Given the description of an element on the screen output the (x, y) to click on. 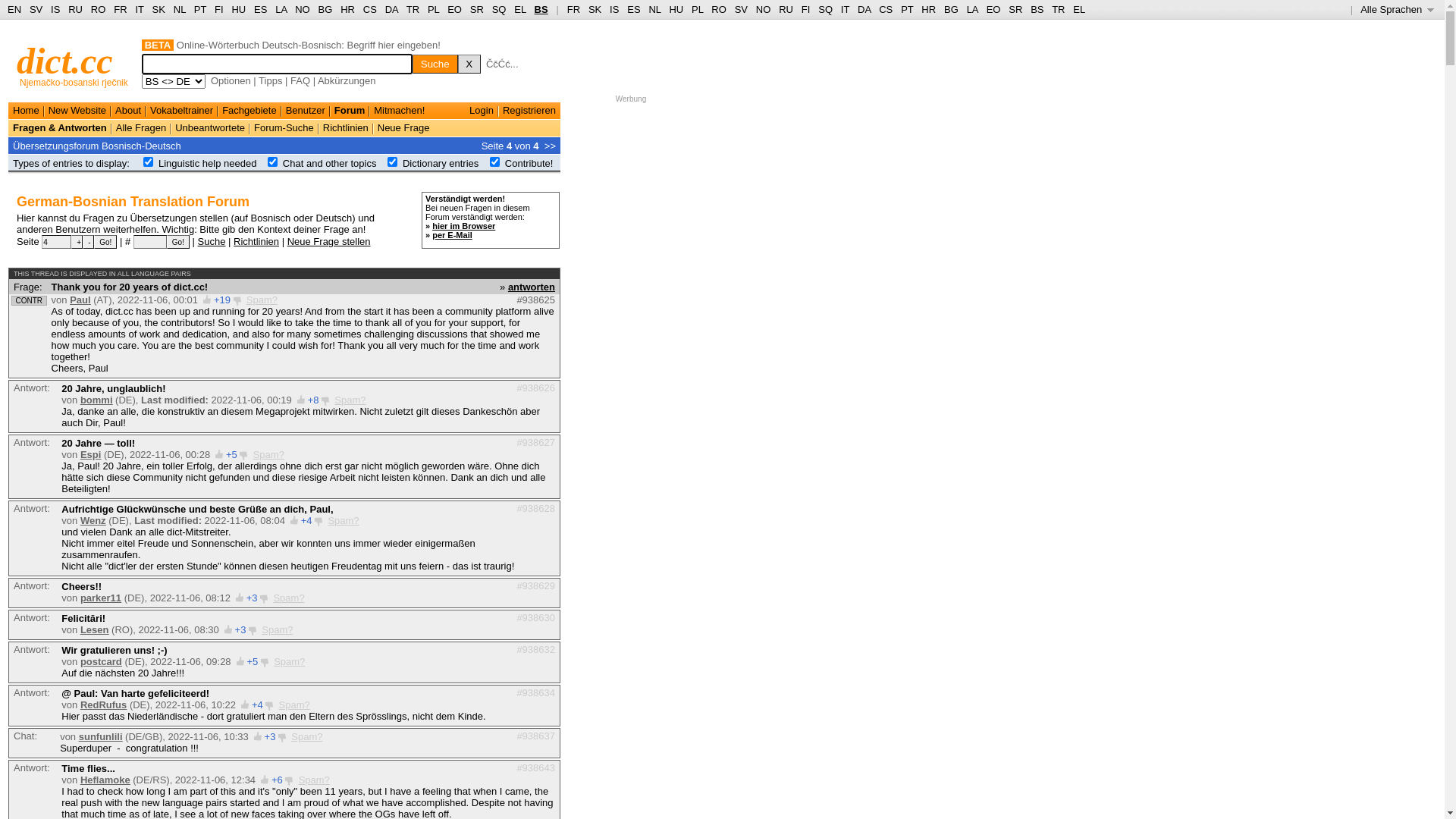
on Element type: text (272, 161)
Alle Fragen Element type: text (141, 127)
Suche Element type: text (211, 240)
PL Element type: text (696, 9)
Home Element type: text (25, 110)
postcard Element type: text (101, 661)
DA Element type: text (863, 9)
+8 Element type: text (313, 399)
Suche Element type: text (435, 63)
Chat and other topics Element type: text (329, 163)
Richtlinien Element type: text (256, 240)
Spam? Element type: text (288, 661)
RU Element type: text (785, 9)
IT Element type: text (138, 9)
CS Element type: text (369, 9)
IS Element type: text (54, 9)
+3 Element type: text (251, 597)
HU Element type: text (675, 9)
NL Element type: text (179, 9)
FI Element type: text (805, 9)
Spam? Element type: text (342, 520)
antworten Element type: text (531, 285)
Go! Element type: text (105, 241)
SQ Element type: text (499, 9)
RO Element type: text (98, 9)
dict.cc Element type: text (64, 60)
DA Element type: text (391, 9)
Spam? Element type: text (261, 299)
Neue Frage stellen Element type: text (328, 240)
EL Element type: text (519, 9)
X Element type: text (469, 63)
on Element type: text (392, 161)
PL Element type: text (433, 9)
SK Element type: text (594, 9)
Contribute! Element type: text (529, 163)
IS Element type: text (613, 9)
BS Element type: text (541, 9)
NO Element type: text (302, 9)
SK Element type: text (158, 9)
EL Element type: text (1079, 9)
RU Element type: text (75, 9)
RO Element type: text (718, 9)
Fragen & Antworten Element type: text (59, 127)
parker11 Element type: text (100, 597)
SV Element type: text (740, 9)
HR Element type: text (347, 9)
FAQ Element type: text (300, 80)
on Element type: text (148, 161)
Go! Element type: text (177, 241)
Richtlinien Element type: text (345, 127)
+5 Element type: text (231, 454)
FR Element type: text (573, 9)
Registrieren Element type: text (528, 110)
Neue Frage Element type: text (403, 127)
IT Element type: text (844, 9)
Lesen Element type: text (94, 629)
+4 Element type: text (306, 520)
sunfunlili Element type: text (100, 736)
Forum-Suche Element type: text (283, 127)
CS Element type: text (885, 9)
Spam? Element type: text (288, 597)
BG Element type: text (325, 9)
Alle Sprachen  Element type: text (1397, 9)
Unbeantwortete Element type: text (209, 127)
Benutzer Element type: text (305, 110)
NO Element type: text (763, 9)
#938637 Element type: text (535, 734)
HU Element type: text (238, 9)
SR Element type: text (476, 9)
RedRufus Element type: text (103, 704)
Vokabeltrainer Element type: text (181, 110)
PT Element type: text (906, 9)
EN Element type: text (14, 9)
SR Element type: text (1015, 9)
CONTR Element type: text (28, 300)
Optionen Element type: text (230, 80)
bommi Element type: text (96, 399)
Linguistic help needed Element type: text (207, 163)
Login Element type: text (481, 110)
#938627 Element type: text (535, 442)
About Element type: text (128, 110)
#938625 Element type: text (535, 299)
#938626 Element type: text (535, 387)
FR Element type: text (119, 9)
NL Element type: text (654, 9)
+19 Element type: text (221, 299)
+3 Element type: text (240, 629)
Spam? Element type: text (306, 736)
HR Element type: text (928, 9)
LA Element type: text (972, 9)
#938634 Element type: text (535, 692)
Spam? Element type: text (276, 629)
LA Element type: text (280, 9)
+3 Element type: text (270, 736)
Forum Element type: text (349, 110)
EO Element type: text (454, 9)
Wenz Element type: text (93, 520)
BG Element type: text (951, 9)
SV Element type: text (35, 9)
BS Element type: text (1036, 9)
ES Element type: text (260, 9)
Mitmachen! Element type: text (398, 110)
SQ Element type: text (825, 9)
on Element type: text (494, 161)
Spam? Element type: text (349, 399)
+4 Element type: text (257, 704)
#938643 Element type: text (535, 766)
Spam? Element type: text (313, 779)
Heflamoke Element type: text (105, 779)
PT Element type: text (200, 9)
Espi Element type: text (90, 454)
#938628 Element type: text (535, 507)
Dictionary entries Element type: text (440, 163)
Tipps Element type: text (270, 80)
#938630 Element type: text (535, 616)
TR Element type: text (412, 9)
Spam? Element type: text (294, 704)
New Website Element type: text (77, 110)
Fachgebiete Element type: text (249, 110)
FI Element type: text (218, 9)
+6 Element type: text (276, 779)
#938632 Element type: text (535, 648)
>> Element type: text (549, 144)
TR Element type: text (1057, 9)
EO Element type: text (993, 9)
+5 Element type: text (251, 661)
German-Bosnian Translation Forum Element type: text (132, 201)
#938629 Element type: text (535, 584)
Paul Element type: text (79, 299)
Spam? Element type: text (268, 454)
ES Element type: text (633, 9)
